Given the description of an element on the screen output the (x, y) to click on. 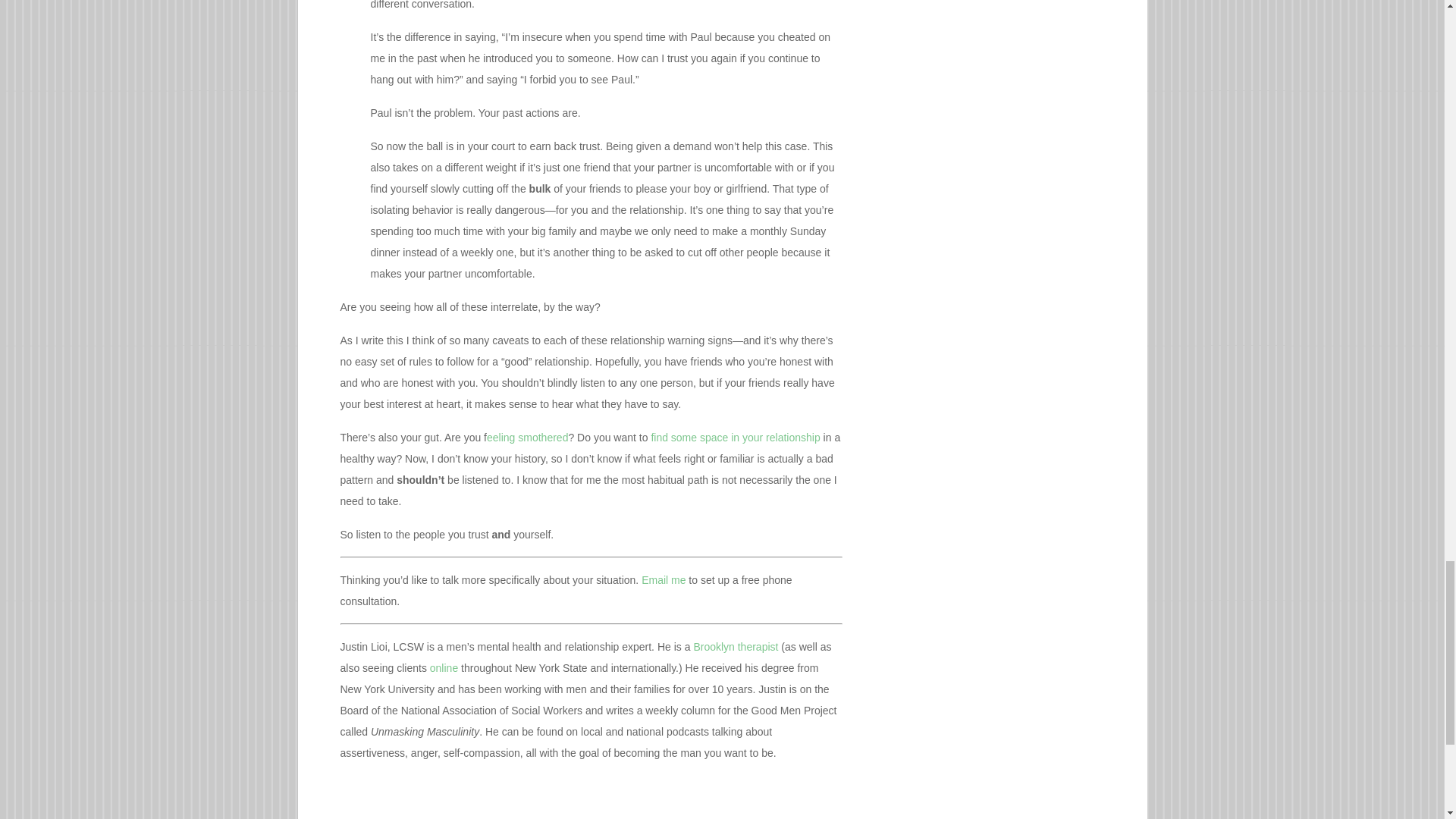
eeling smothered (526, 437)
Brooklyn therapist (735, 646)
Email me (662, 580)
find some space in your relationship (734, 437)
online (443, 667)
